Given the description of an element on the screen output the (x, y) to click on. 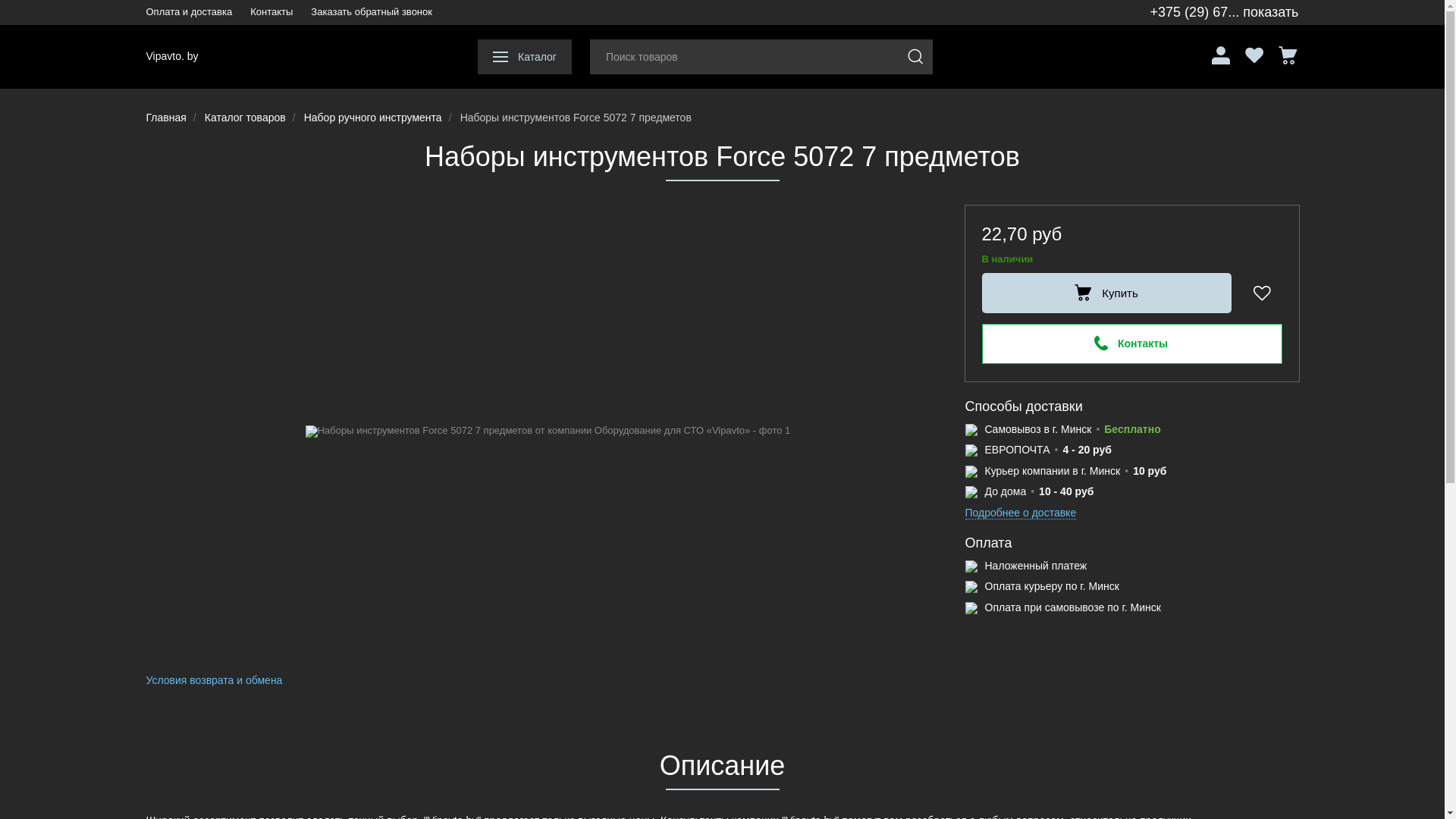
Vipavto. by Element type: text (171, 56)
